Given the description of an element on the screen output the (x, y) to click on. 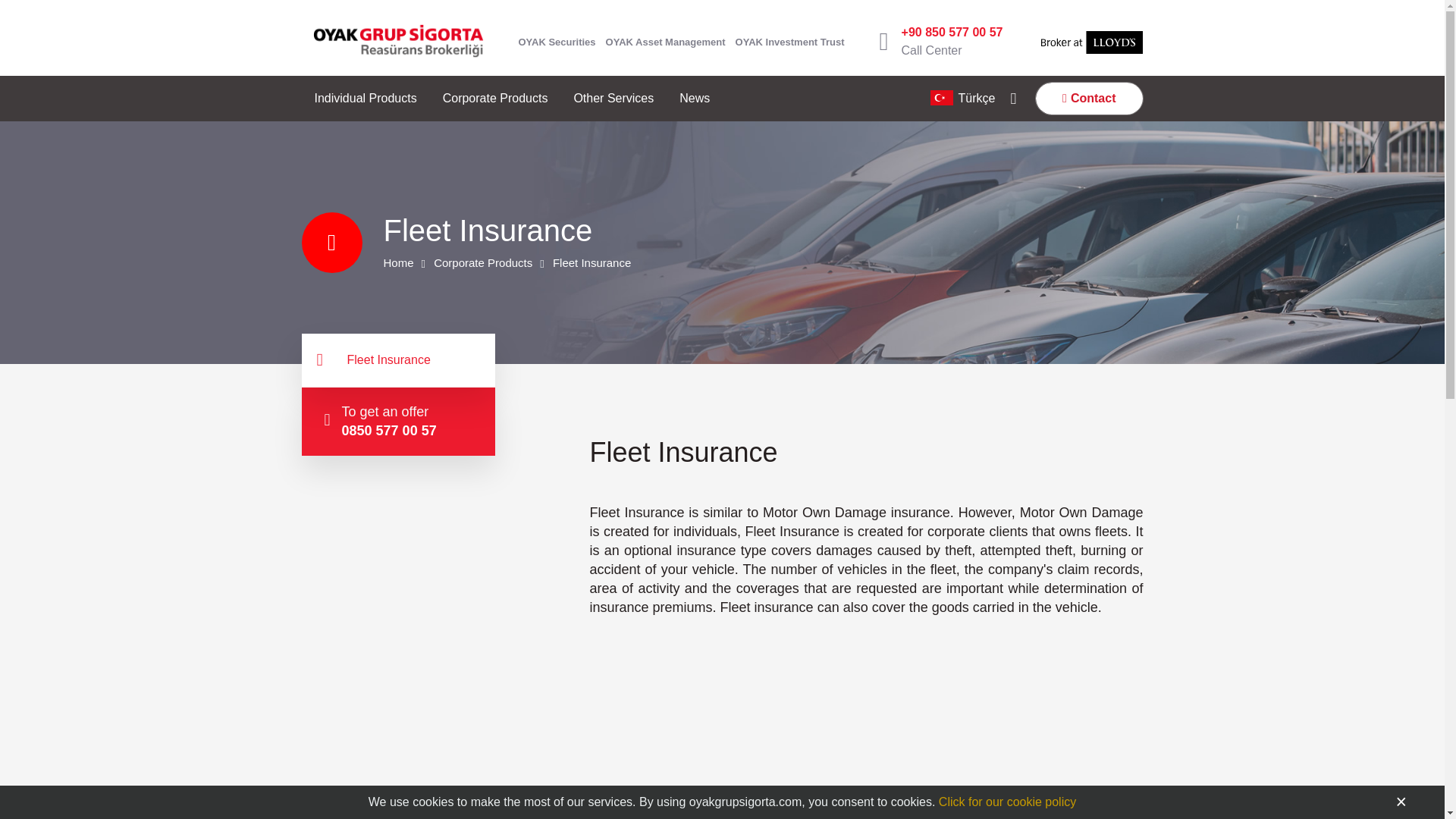
OYAK Securities (556, 41)
Corporate Products (495, 98)
OYAK Investment Trust (789, 41)
Individual Products (365, 98)
OYAK Asset Management (665, 41)
